Given the description of an element on the screen output the (x, y) to click on. 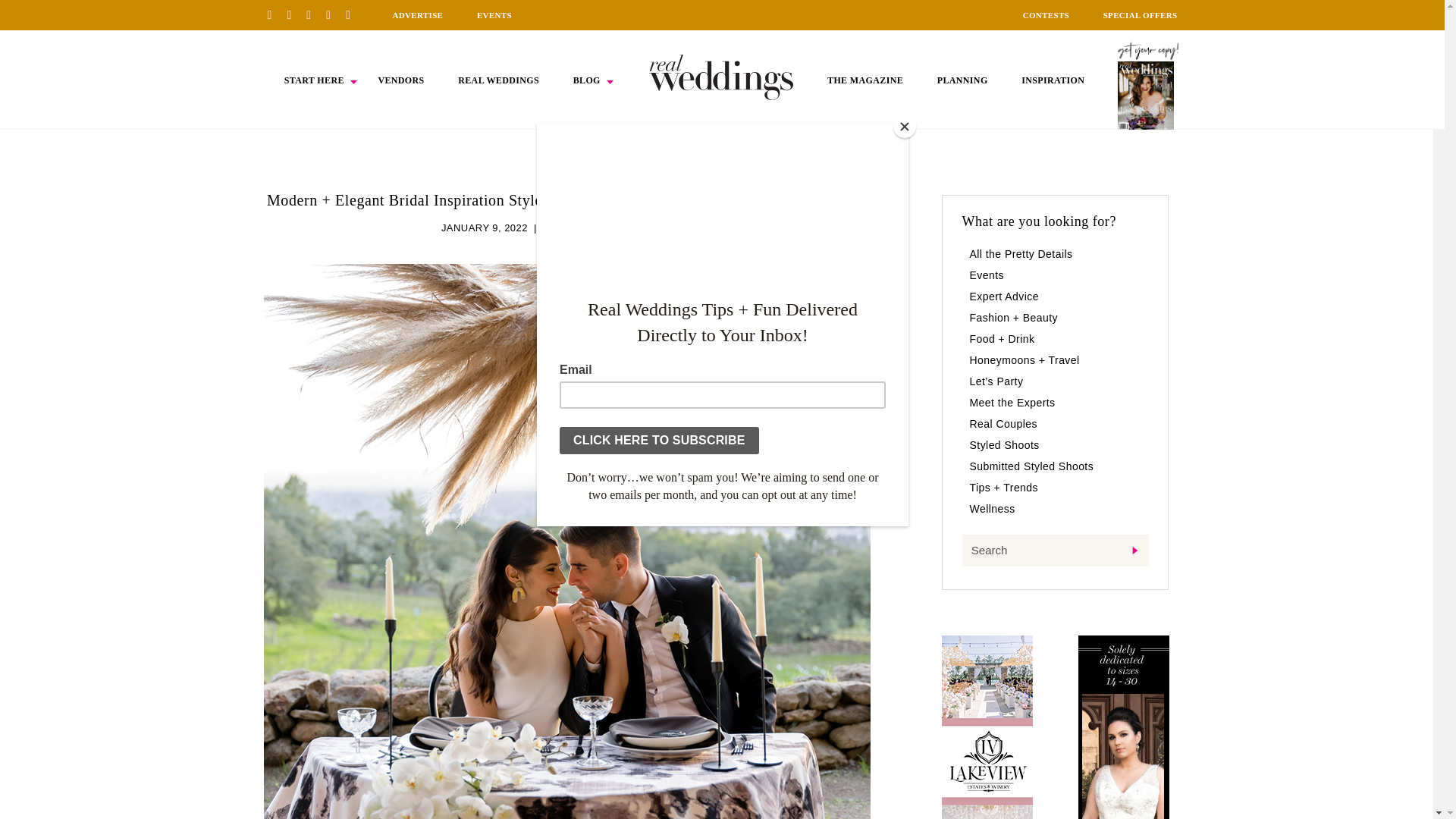
Facebook (294, 14)
START HERE (313, 80)
Pinterest (274, 14)
REAL WEDDINGS (498, 80)
BLOG (586, 80)
Instagram (313, 14)
THE MAGAZINE (864, 80)
INSPIRATION (1053, 80)
EVENTS (494, 14)
SUBMITTED STYLED SHOOTS (618, 227)
Search (1054, 550)
HOME (721, 76)
ADVERTISE (416, 14)
YouTube (353, 14)
SPECIAL OFFERS (1140, 14)
